Given the description of an element on the screen output the (x, y) to click on. 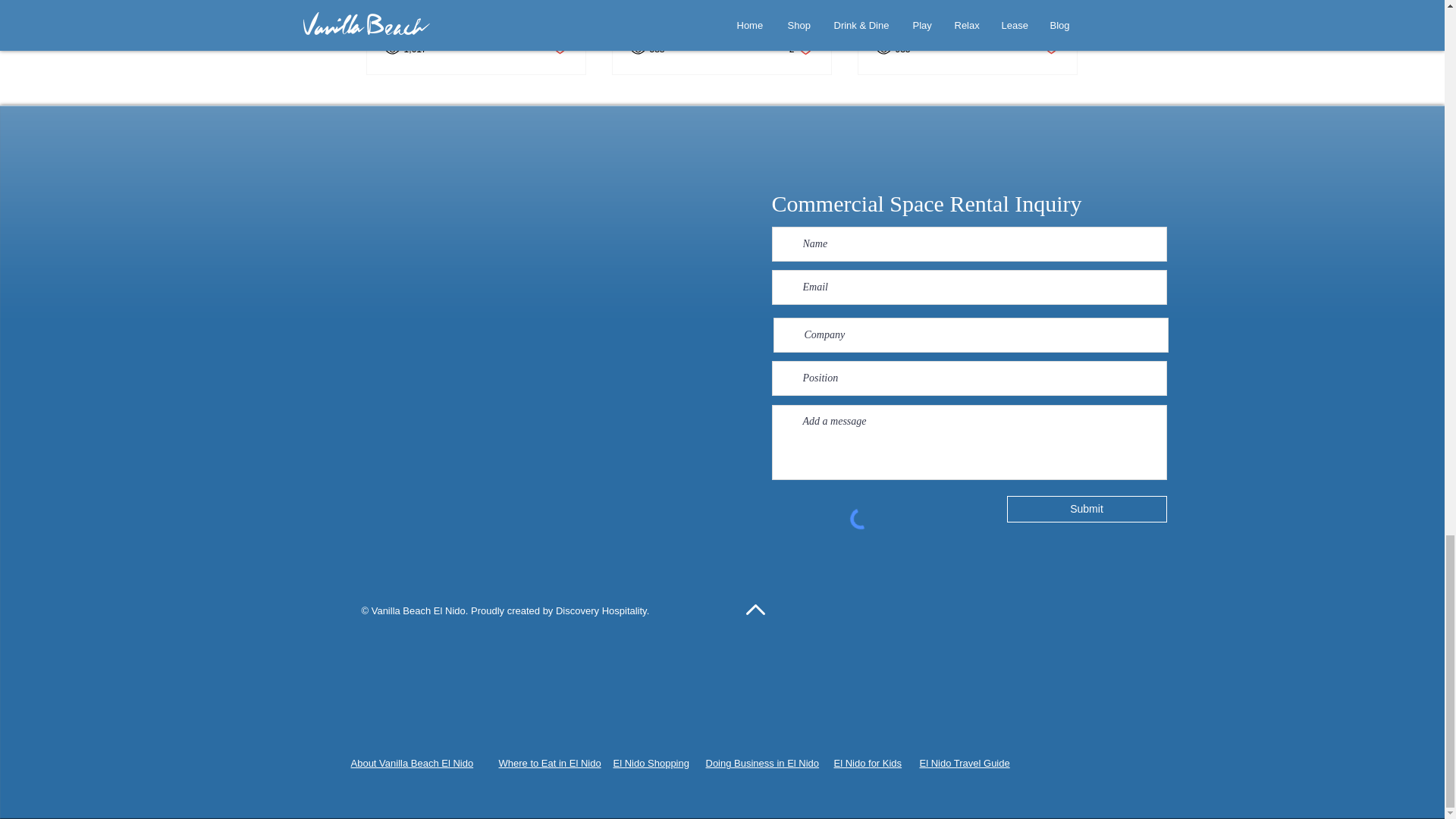
Where to Eat in El Nido (550, 763)
El Nido Travel Guide (963, 763)
Post not marked as liked (558, 49)
Doing Business in El Nido (761, 763)
El Nido Shopping (650, 763)
Post not marked as liked (1050, 49)
El Nido for Kids (800, 49)
About Vanilla Beach El Nido (868, 763)
El Nido History: Enriching Your Next El Nido Getaway (411, 763)
Submit (476, 6)
Coron vs El Nido: Which Is Better? (1087, 509)
